Given the description of an element on the screen output the (x, y) to click on. 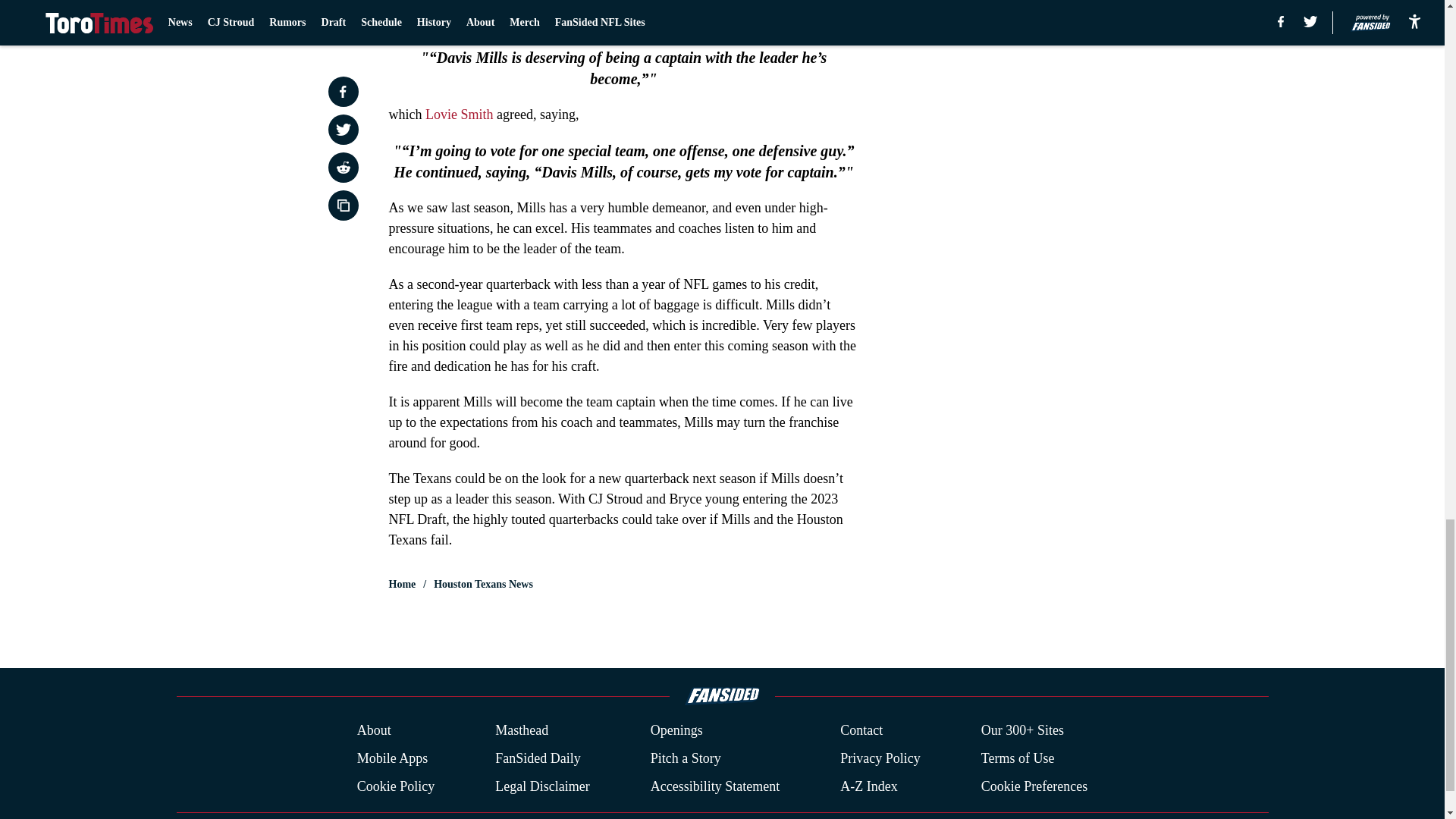
Legal Disclaimer (542, 786)
Houston Texans News (482, 584)
Privacy Policy (880, 758)
Masthead (521, 730)
Terms of Use (1017, 758)
About (373, 730)
Openings (676, 730)
Aaron Wilson (500, 20)
Pitch a Story (685, 758)
Home (401, 584)
FanSided Daily (537, 758)
Mobile Apps (392, 758)
Contact (861, 730)
Cookie Policy (395, 786)
Lovie Smith (460, 114)
